Given the description of an element on the screen output the (x, y) to click on. 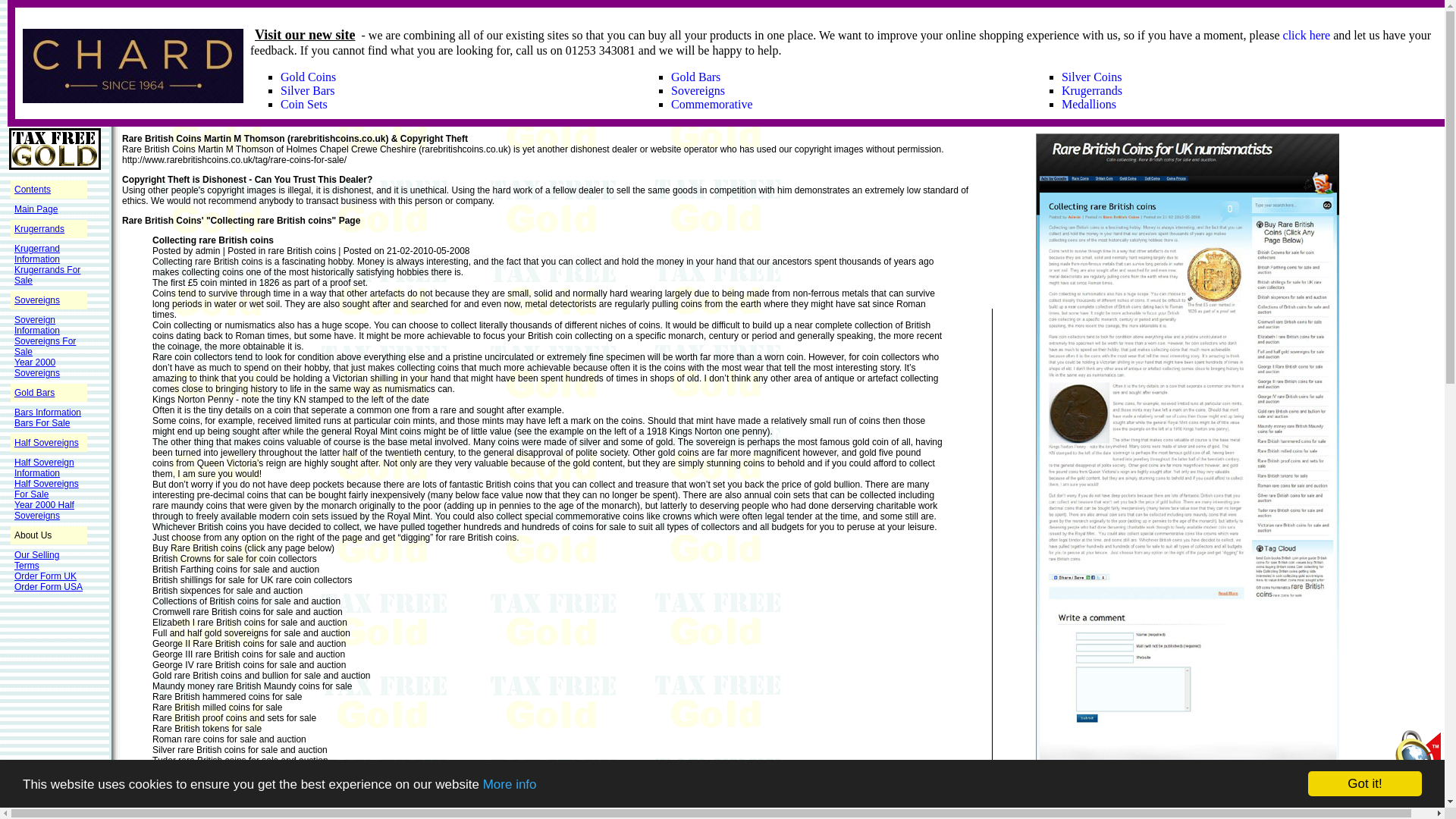
Half Sovereigns For Sale (46, 488)
Year 2000 Half Sovereigns (44, 509)
Our Selling Terms (36, 559)
Medallions (1088, 103)
Silver Bars (307, 90)
Year 2000 Sovereigns (36, 367)
Krugerrands (39, 228)
Gold Coins (308, 76)
Silver Coins (1091, 76)
Bars Information (47, 412)
